Given the description of an element on the screen output the (x, y) to click on. 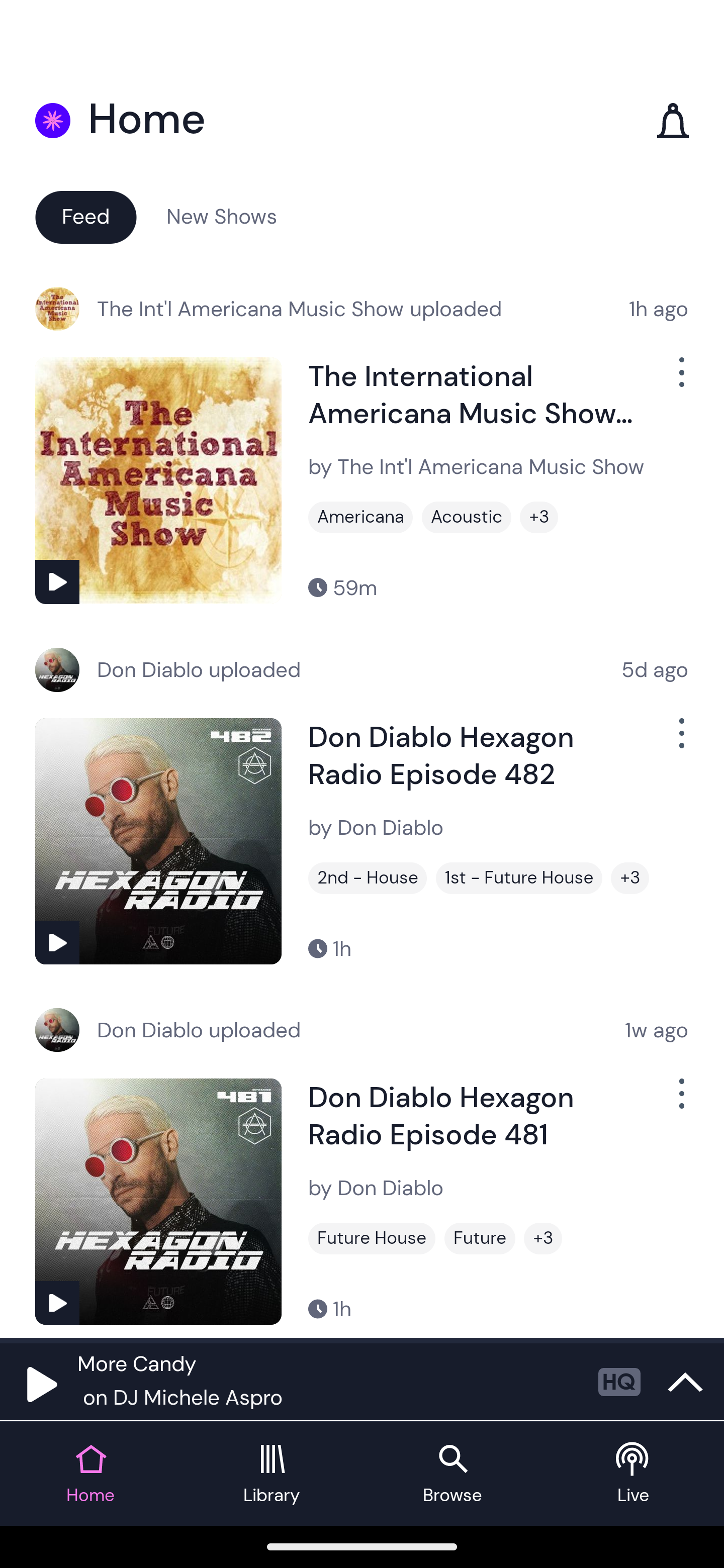
Feed (85, 216)
New Shows (221, 216)
Show Options Menu Button (679, 379)
Americana (360, 517)
Acoustic (466, 517)
Show Options Menu Button (679, 740)
2nd - House (367, 877)
1st - Future House (518, 877)
Show Options Menu Button (679, 1101)
Future House (371, 1238)
Future (479, 1238)
Home tab Home (90, 1473)
Library tab Library (271, 1473)
Browse tab Browse (452, 1473)
Live tab Live (633, 1473)
